Given the description of an element on the screen output the (x, y) to click on. 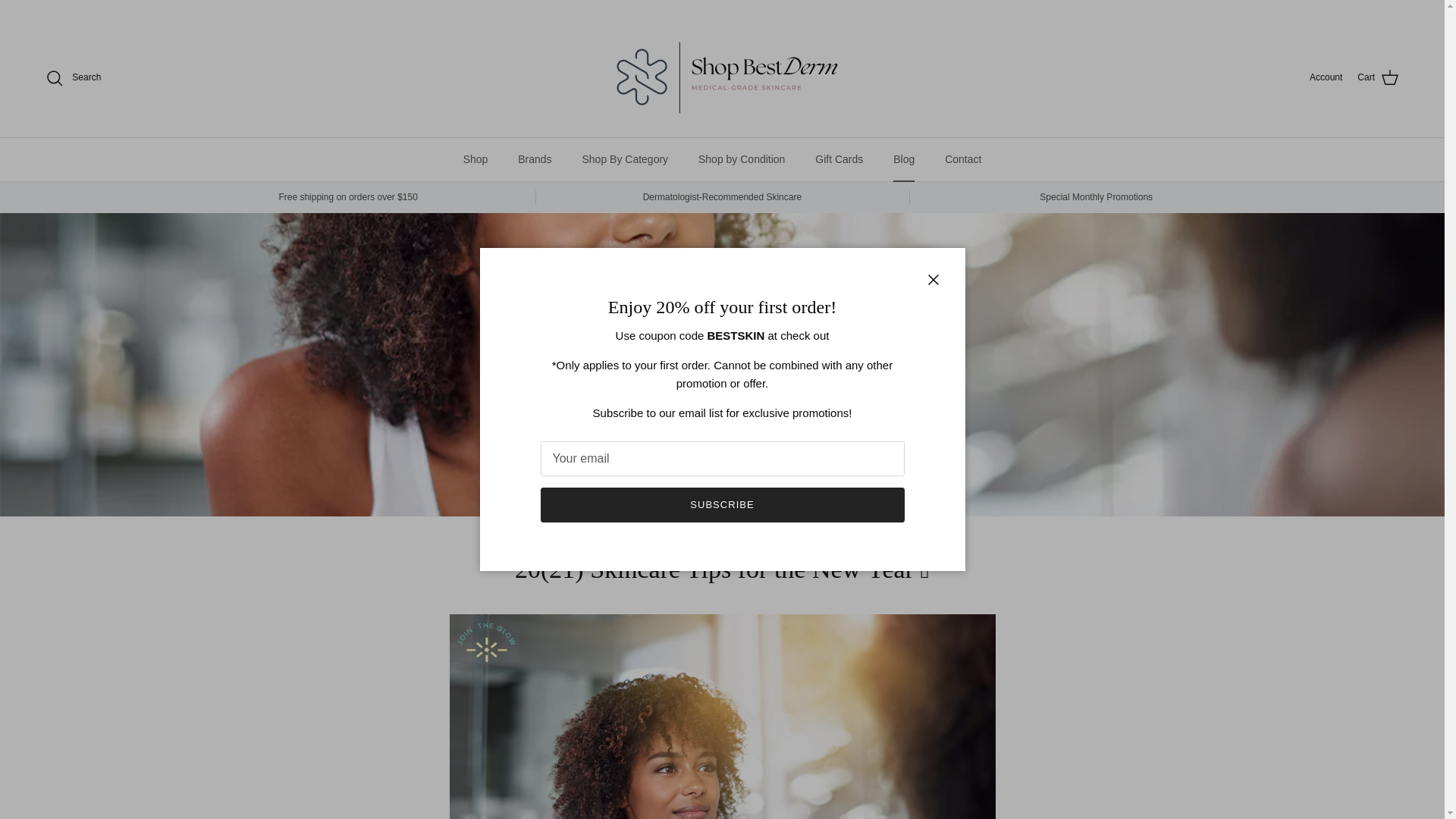
Shop By Category (624, 159)
Shop by Condition (740, 159)
Cart (1377, 77)
Account (1325, 77)
Search (72, 76)
Brands (533, 159)
Shop BestDerm (721, 77)
Shop (475, 159)
